Given the description of an element on the screen output the (x, y) to click on. 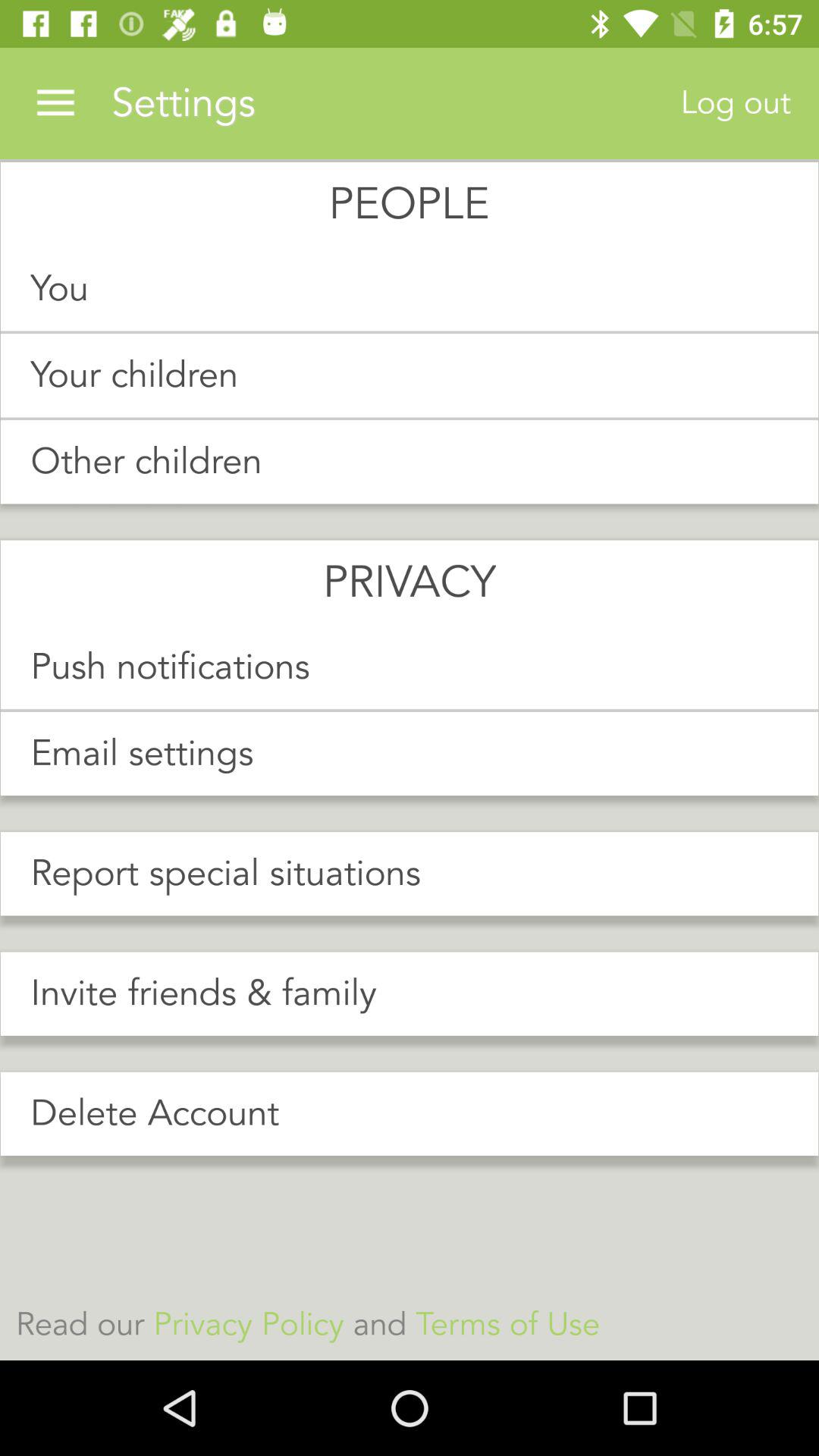
open icon above report special situations item (409, 753)
